Given the description of an element on the screen output the (x, y) to click on. 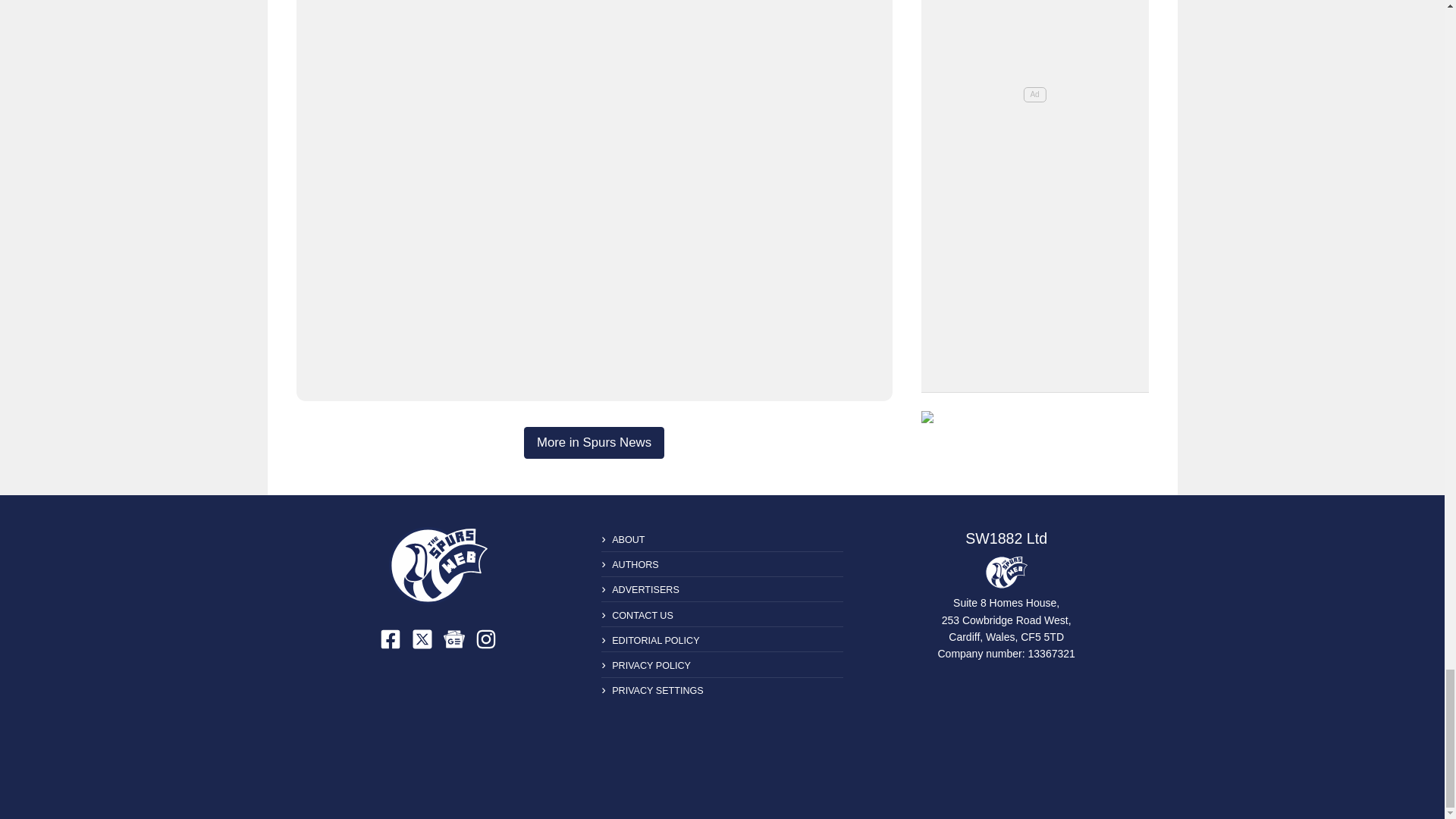
The Spurs Web - Tottenham Hotspur Football News (438, 566)
More in Spurs News (593, 442)
Spurs Web (1005, 572)
The Spurs Web - Tottenham Hotspur Football News on Facebook (390, 639)
The Spurs Web - Tottenham Hotspur Football News on Instagram (486, 639)
The Spurs Web - Tottenham Hotspur Football News on X (422, 639)
